Given the description of an element on the screen output the (x, y) to click on. 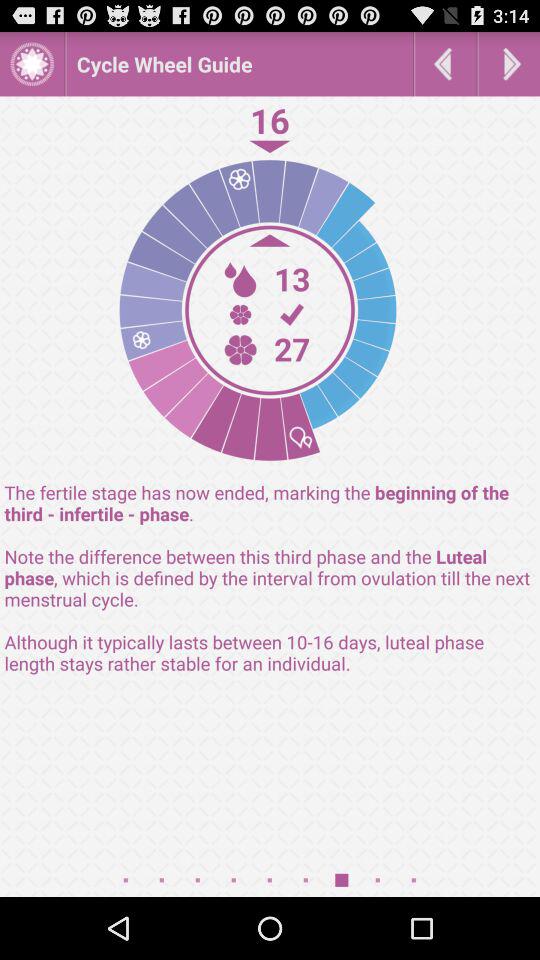
go to next (509, 63)
